Given the description of an element on the screen output the (x, y) to click on. 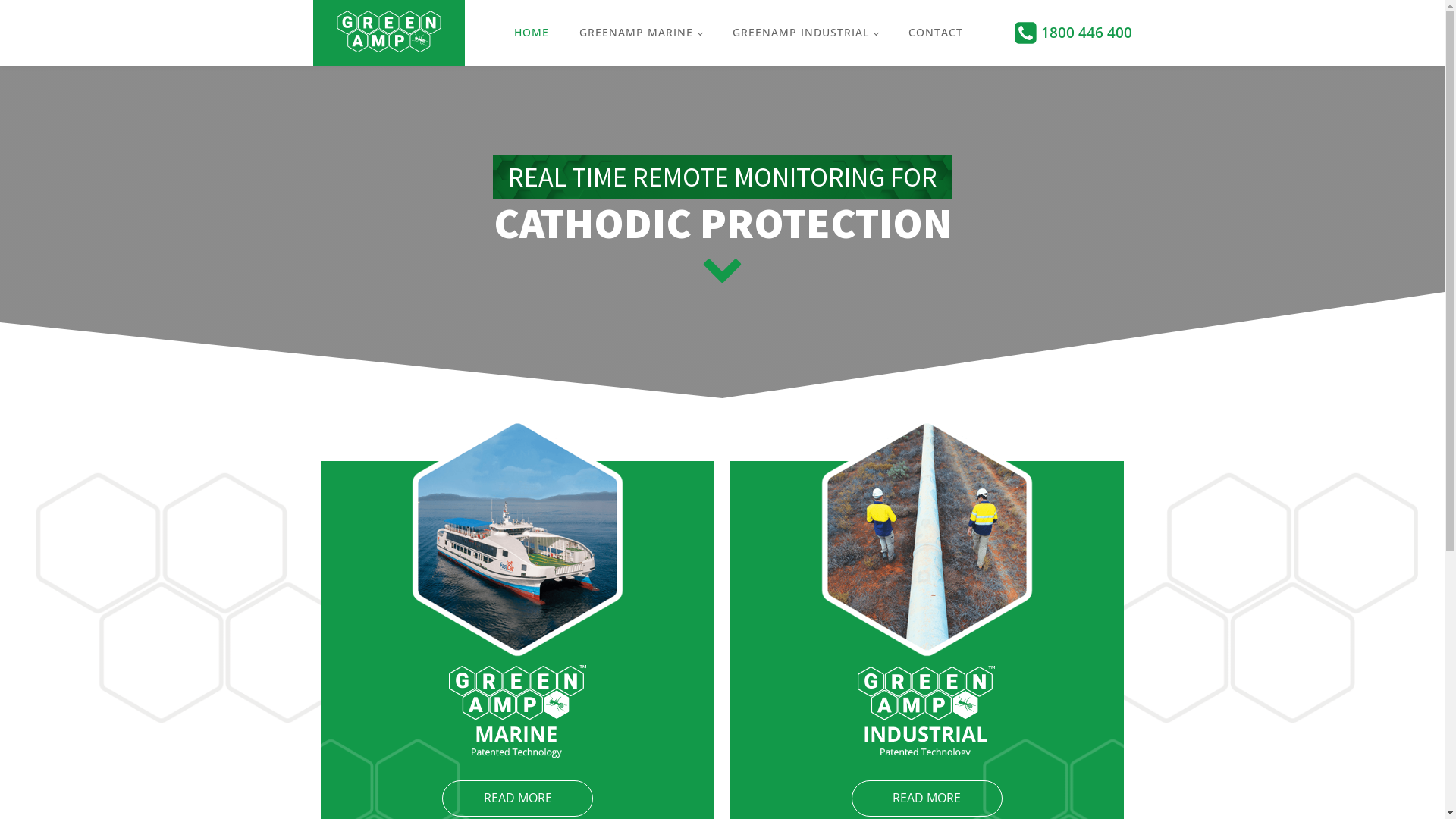
READ MORE Element type: text (926, 798)
1800 446 400 Element type: text (1085, 32)
HOME Element type: text (531, 32)
GREENAMP INDUSTRIAL Element type: text (805, 32)
CONTACT Element type: text (935, 32)
GREENAMP MARINE Element type: text (640, 32)
READ MORE Element type: text (517, 798)
